Given the description of an element on the screen output the (x, y) to click on. 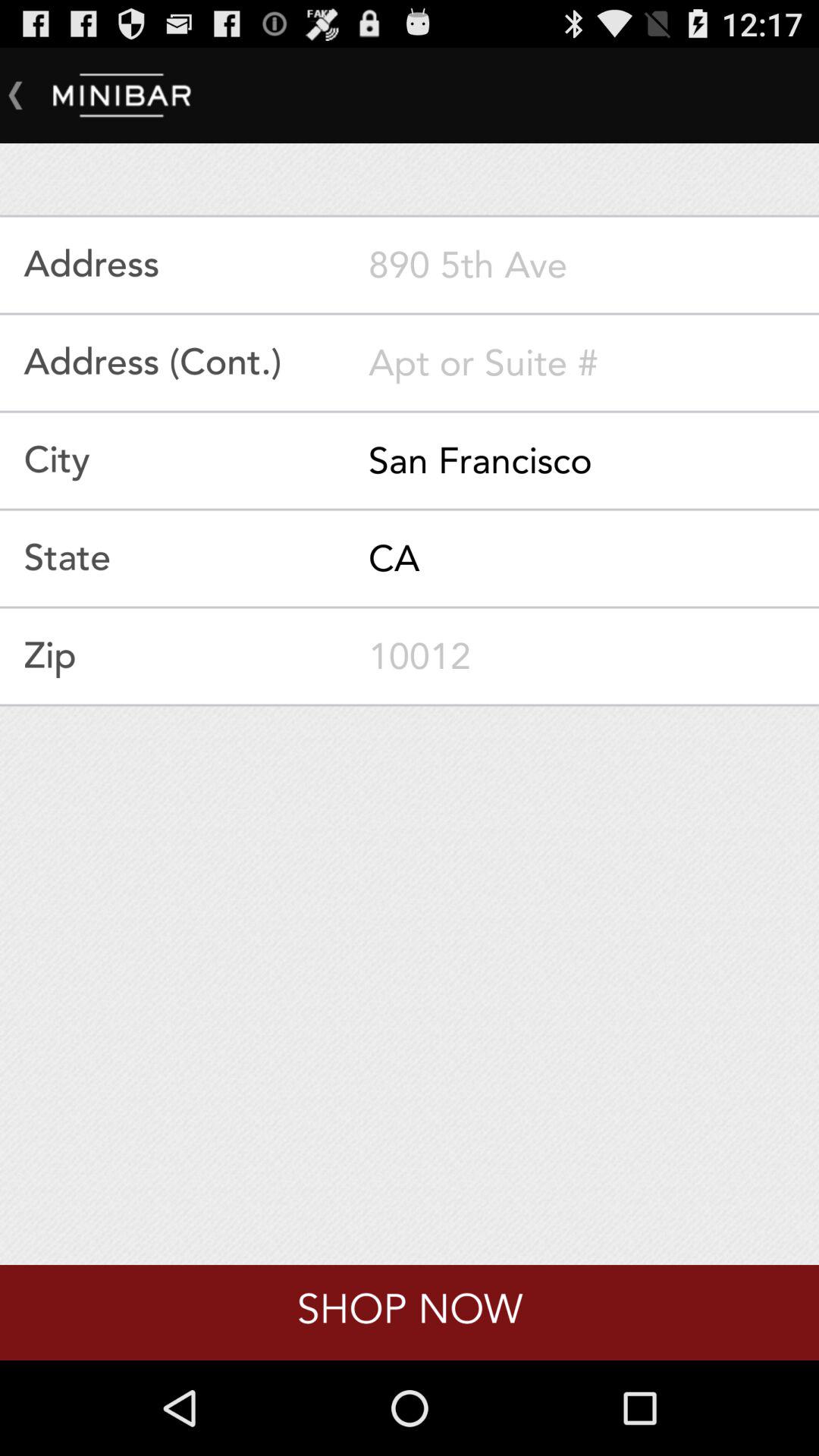
apt or suite (593, 362)
